Given the description of an element on the screen output the (x, y) to click on. 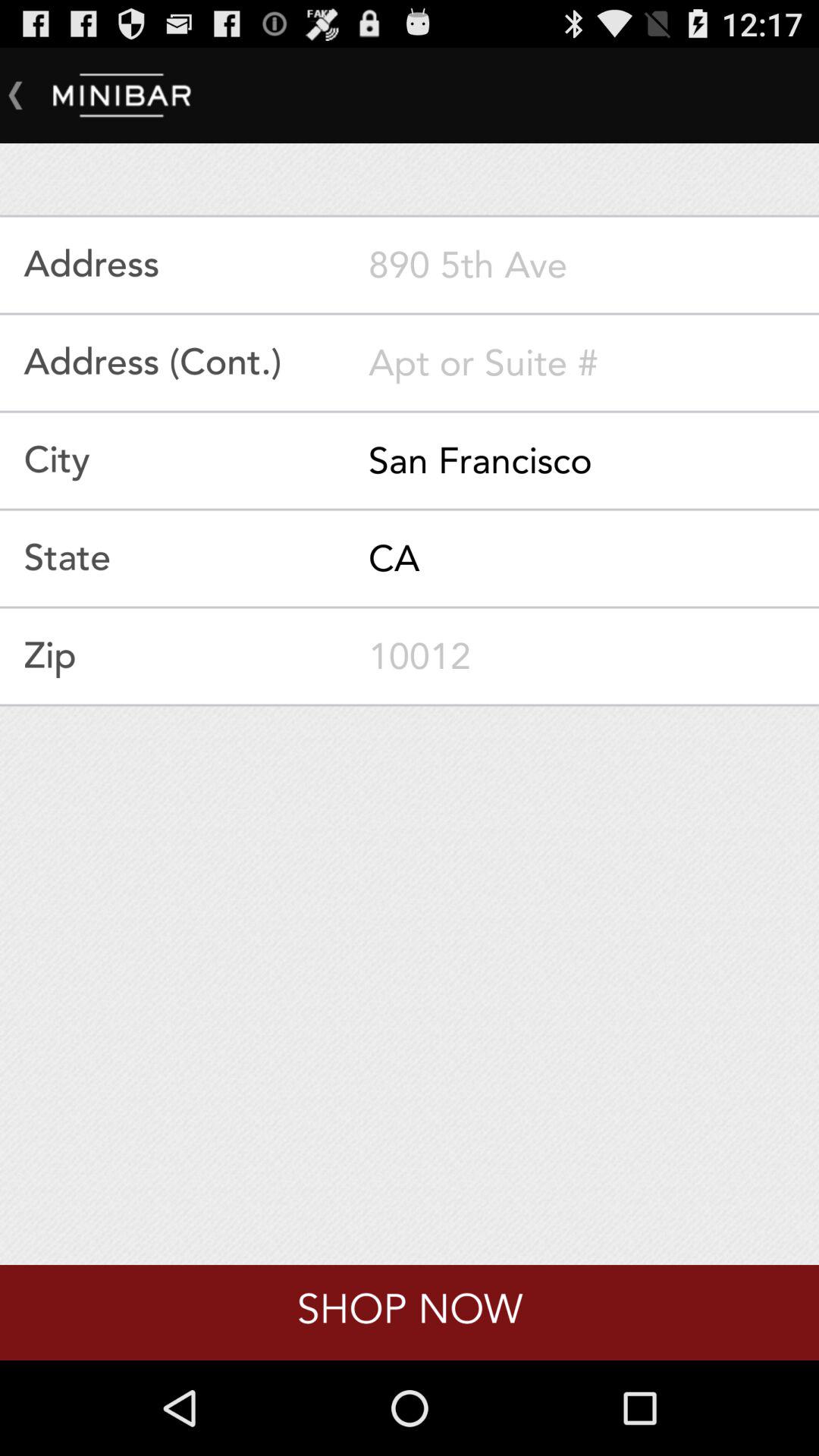
apt or suite (593, 362)
